Given the description of an element on the screen output the (x, y) to click on. 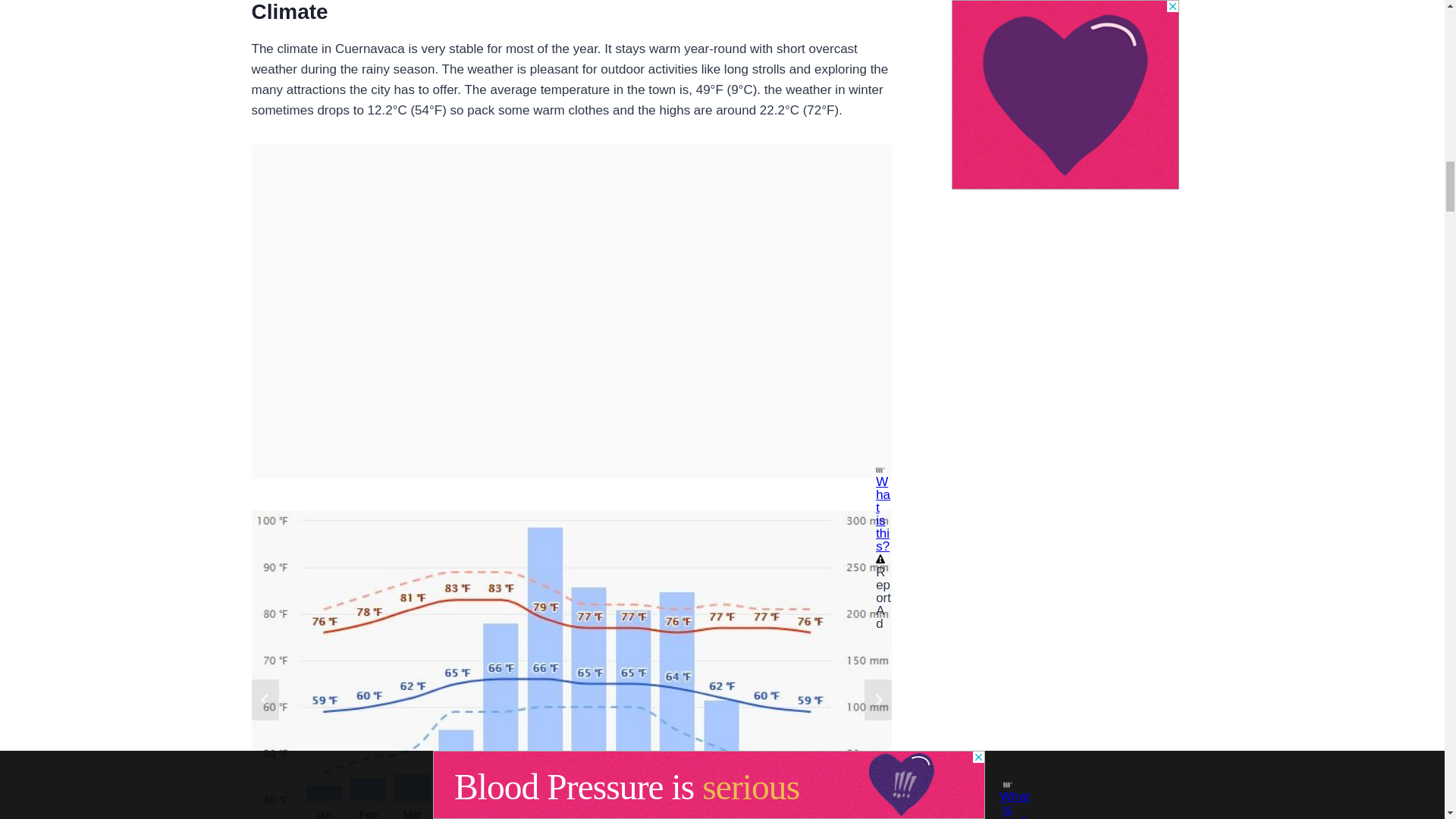
3rd party ad content (571, 239)
